Given the description of an element on the screen output the (x, y) to click on. 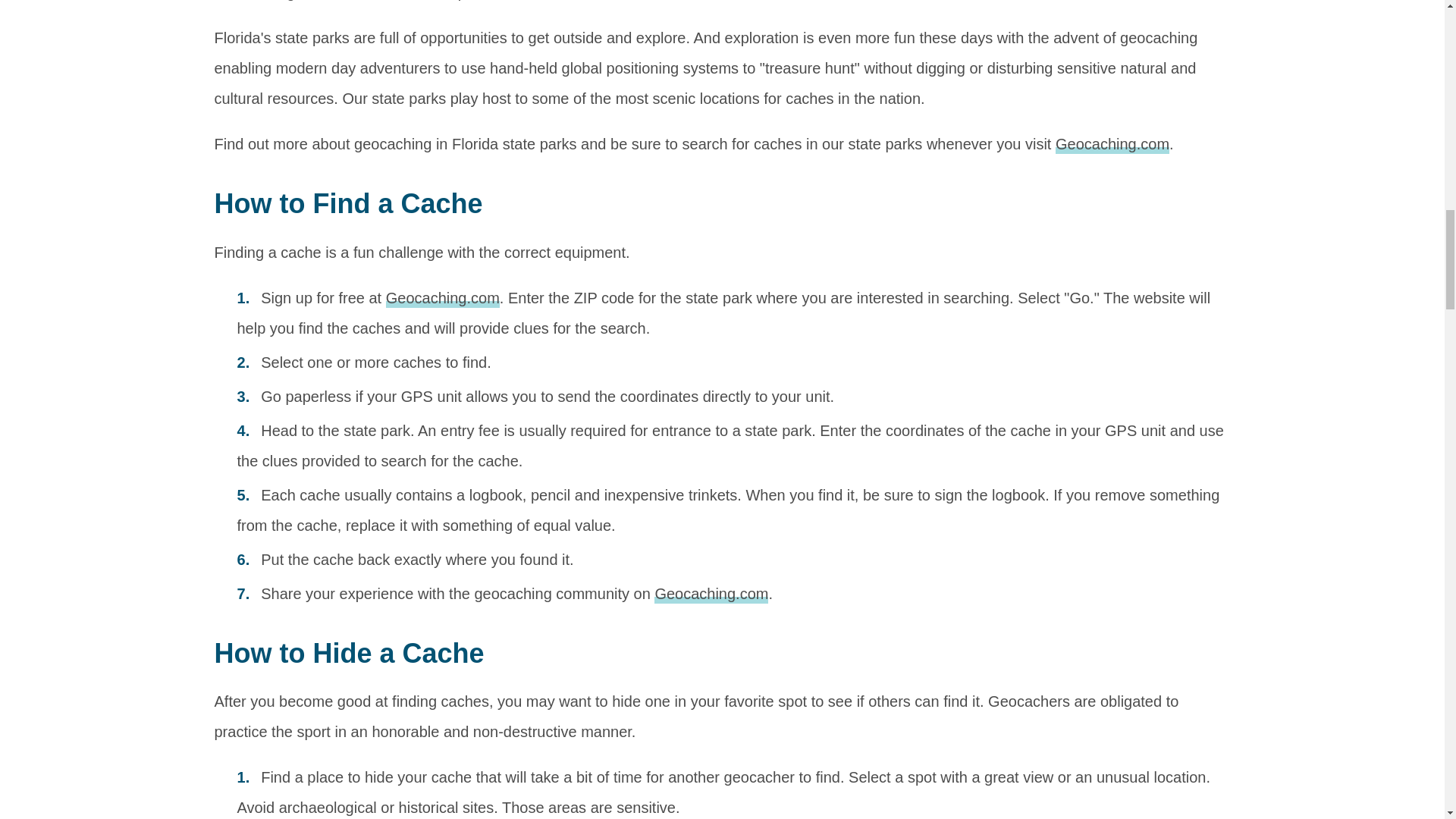
Geocaching.com (710, 594)
Geocaching.com (1112, 144)
Geocaching.com (442, 298)
